Given the description of an element on the screen output the (x, y) to click on. 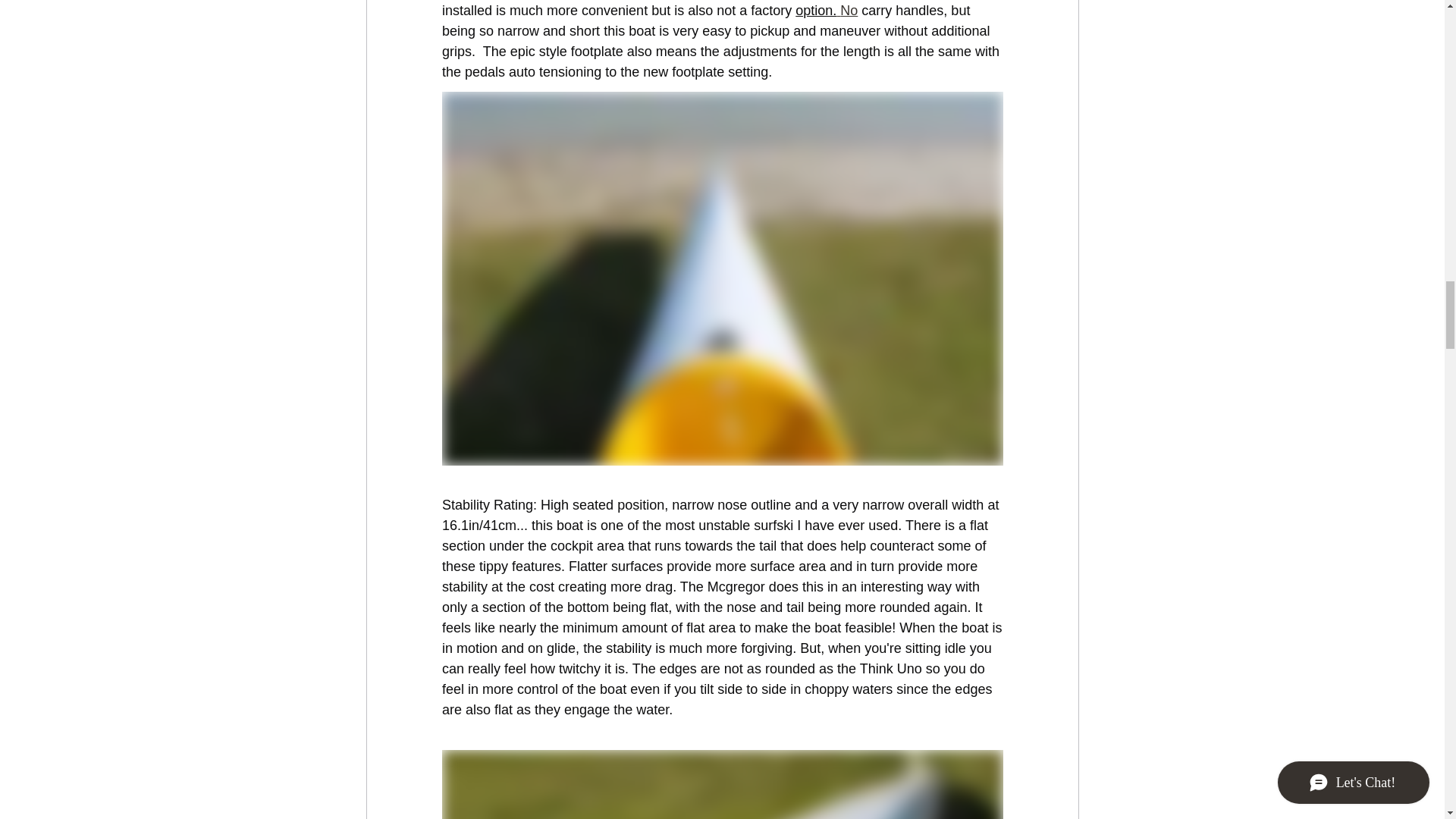
No (848, 10)
